Given the description of an element on the screen output the (x, y) to click on. 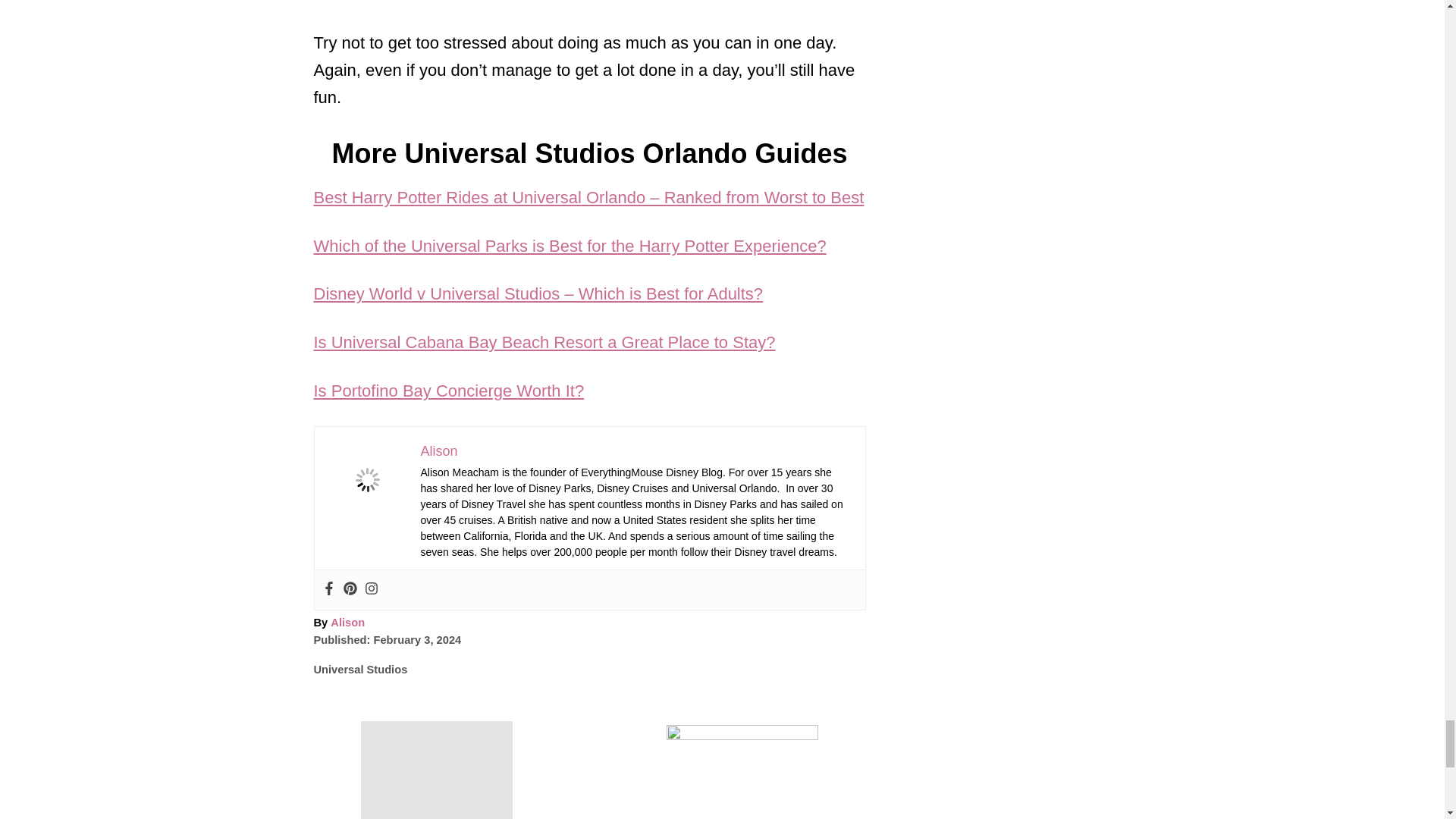
Instagram (370, 589)
Pinterest (349, 589)
Alison (438, 450)
Facebook (327, 589)
Is Universal Cabana Bay Beach Resort a Great Place to Stay? (545, 342)
Is Portofino Bay Concierge Worth It? (449, 390)
